Given the description of an element on the screen output the (x, y) to click on. 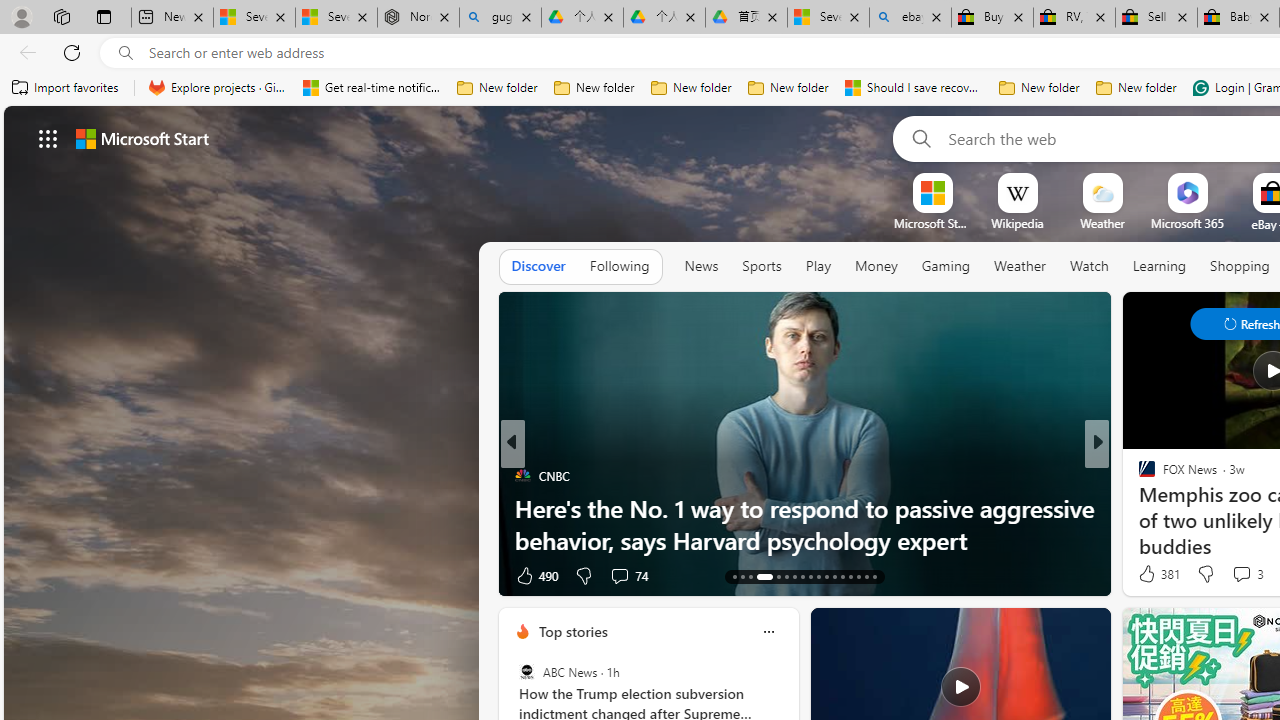
CNN Money (1138, 475)
View comments 100 Comment (1229, 575)
192 Like (1151, 574)
View comments 3 Comment (1241, 573)
View comments 19 Comment (1237, 574)
Should I save recovered Word documents? - Microsoft Support (913, 88)
AutomationID: tab-24 (833, 576)
Import favorites (65, 88)
Forge of Empires (1175, 507)
View comments 2 Comment (1234, 574)
Gaming (945, 265)
View comments 19 Comment (1229, 575)
RV, Trailer & Camper Steps & Ladders for sale | eBay (1074, 17)
